Given the description of an element on the screen output the (x, y) to click on. 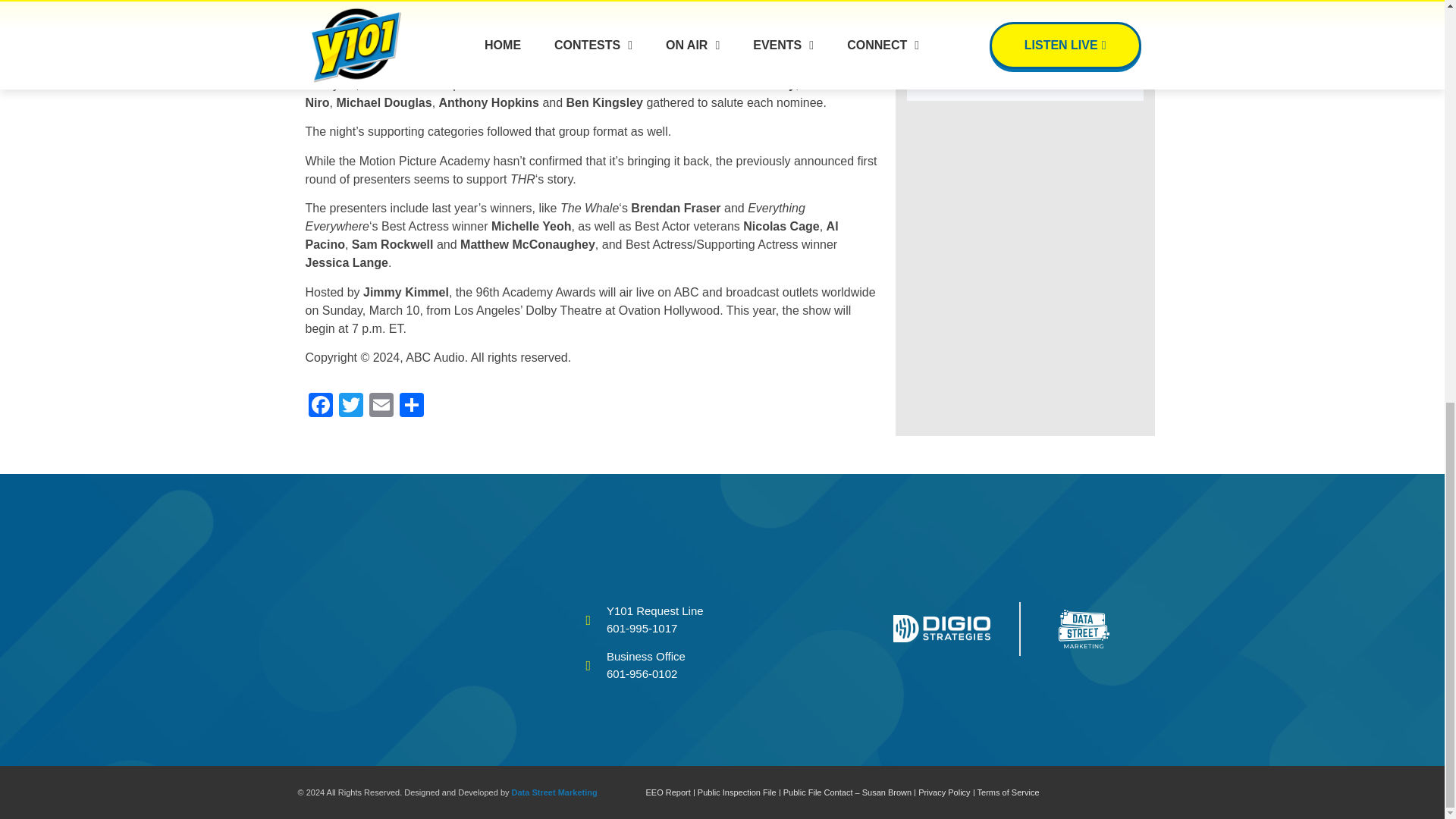
Email (380, 406)
Facebook (319, 406)
Twitter (349, 406)
